Given the description of an element on the screen output the (x, y) to click on. 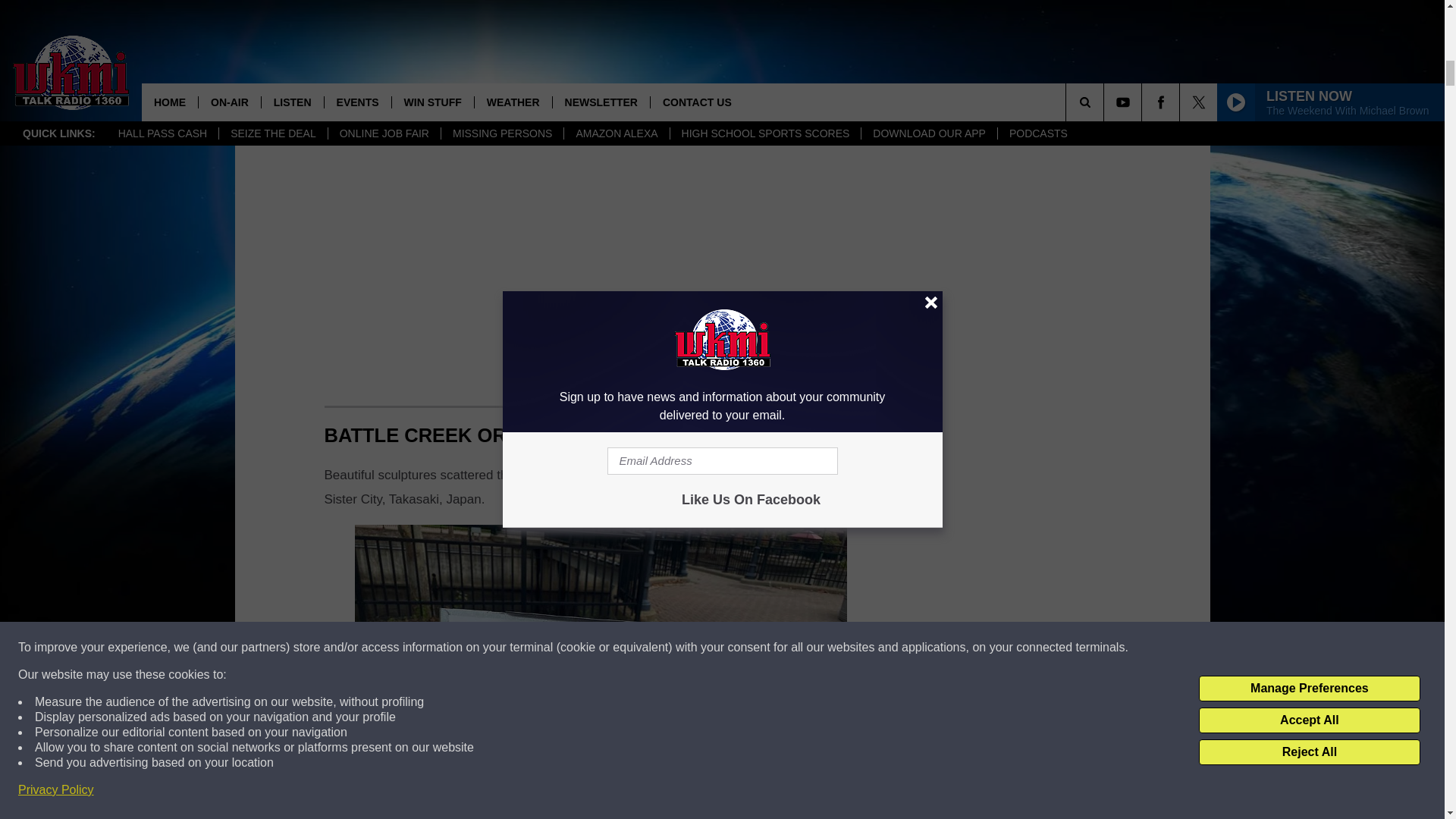
Email Address (600, 10)
